Given the description of an element on the screen output the (x, y) to click on. 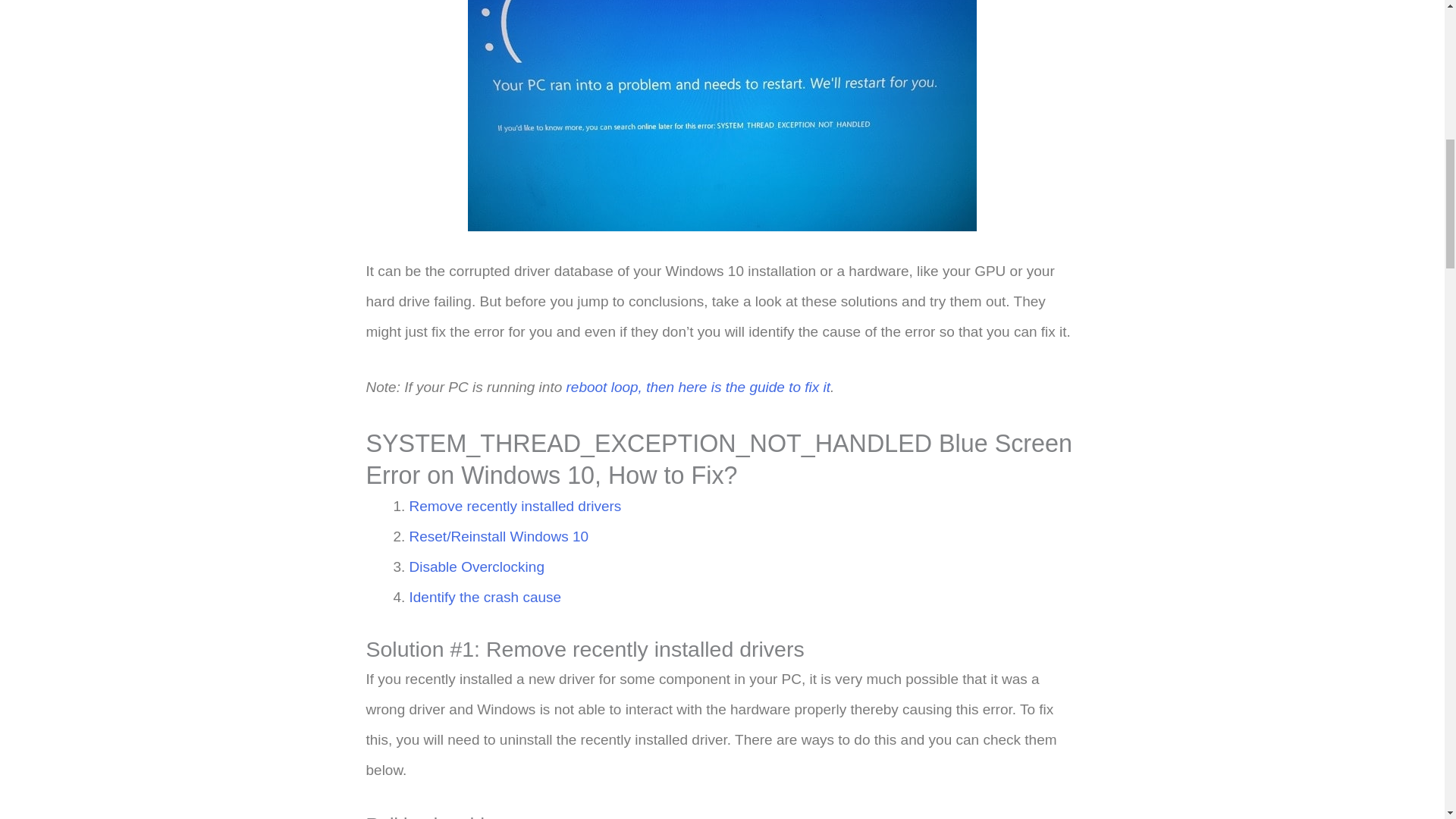
Disable Overclocking (476, 566)
reboot loop, then here is the guide to fix it (698, 386)
Identify the crash cause (485, 596)
Remove recently installed drivers (515, 505)
